Given the description of an element on the screen output the (x, y) to click on. 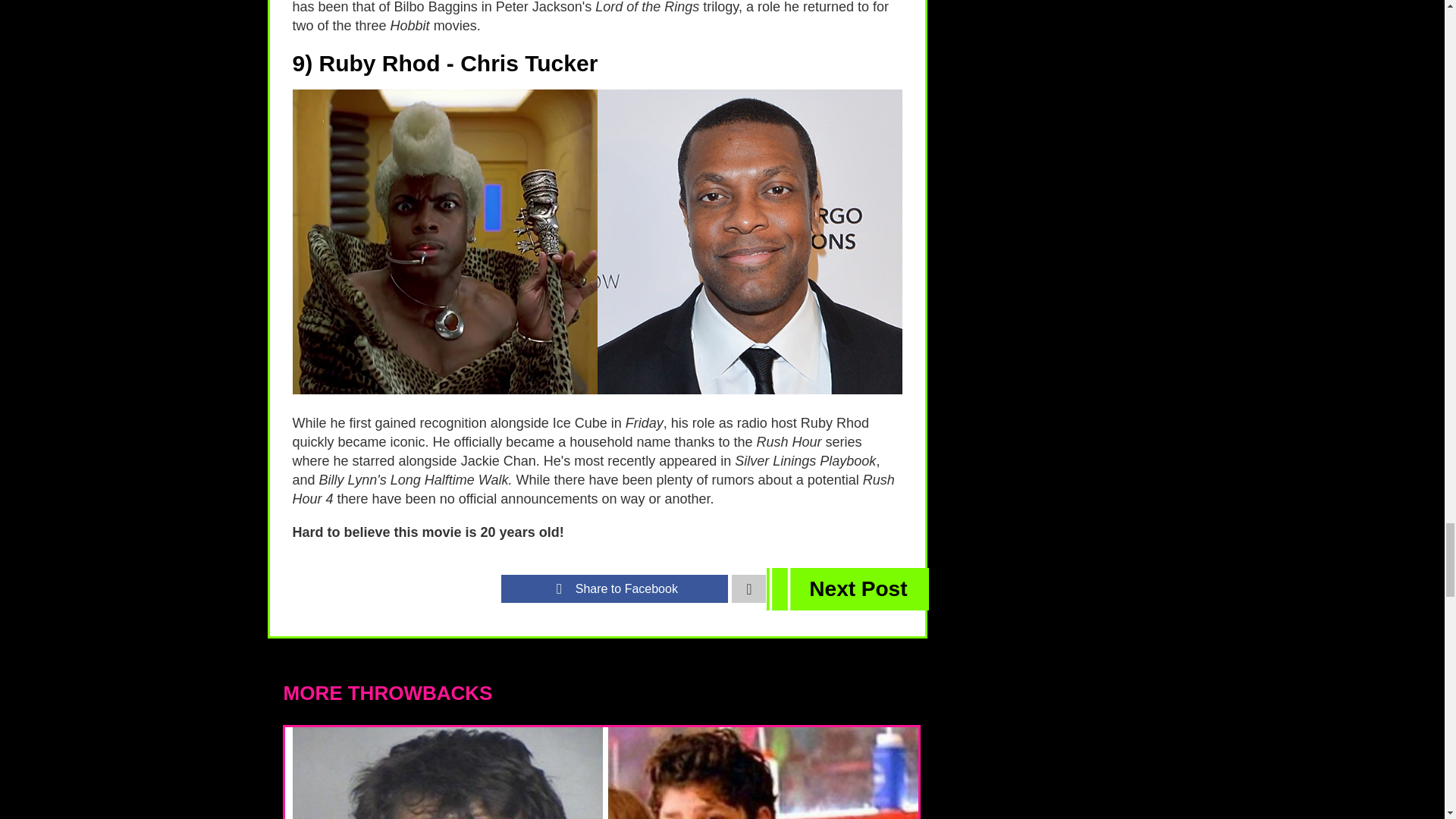
facebook (614, 588)
Toggle navigation (748, 588)
Next Post (847, 589)
